Given the description of an element on the screen output the (x, y) to click on. 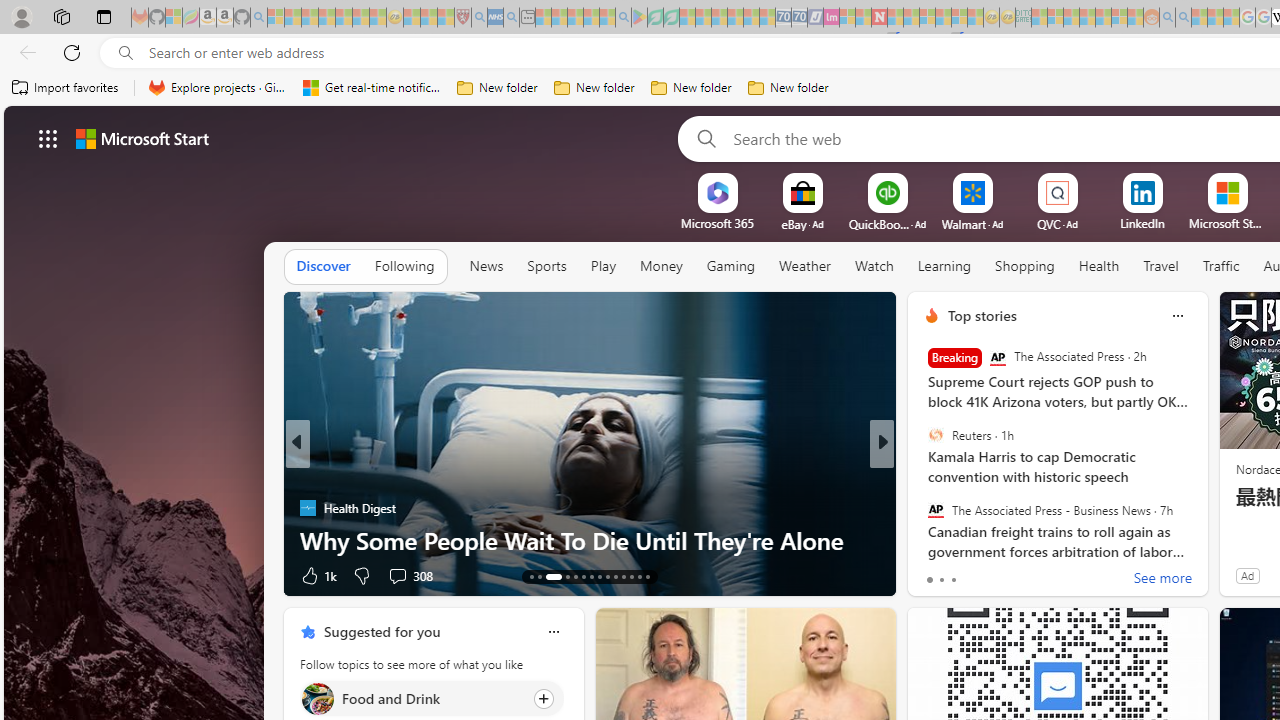
Cheap Hotels - Save70.com - Sleeping (799, 17)
XDA Developers (923, 507)
MSNBC - MSN - Sleeping (1039, 17)
Robert H. Shmerling, MD - Harvard Health - Sleeping (462, 17)
Sports (546, 265)
14 Common Myths Debunked By Scientific Facts - Sleeping (911, 17)
AutomationID: tab-14 (539, 576)
Microsoft start (142, 138)
AutomationID: tab-18 (582, 576)
AutomationID: tab-26 (646, 576)
ZDNet (923, 475)
